Given the description of an element on the screen output the (x, y) to click on. 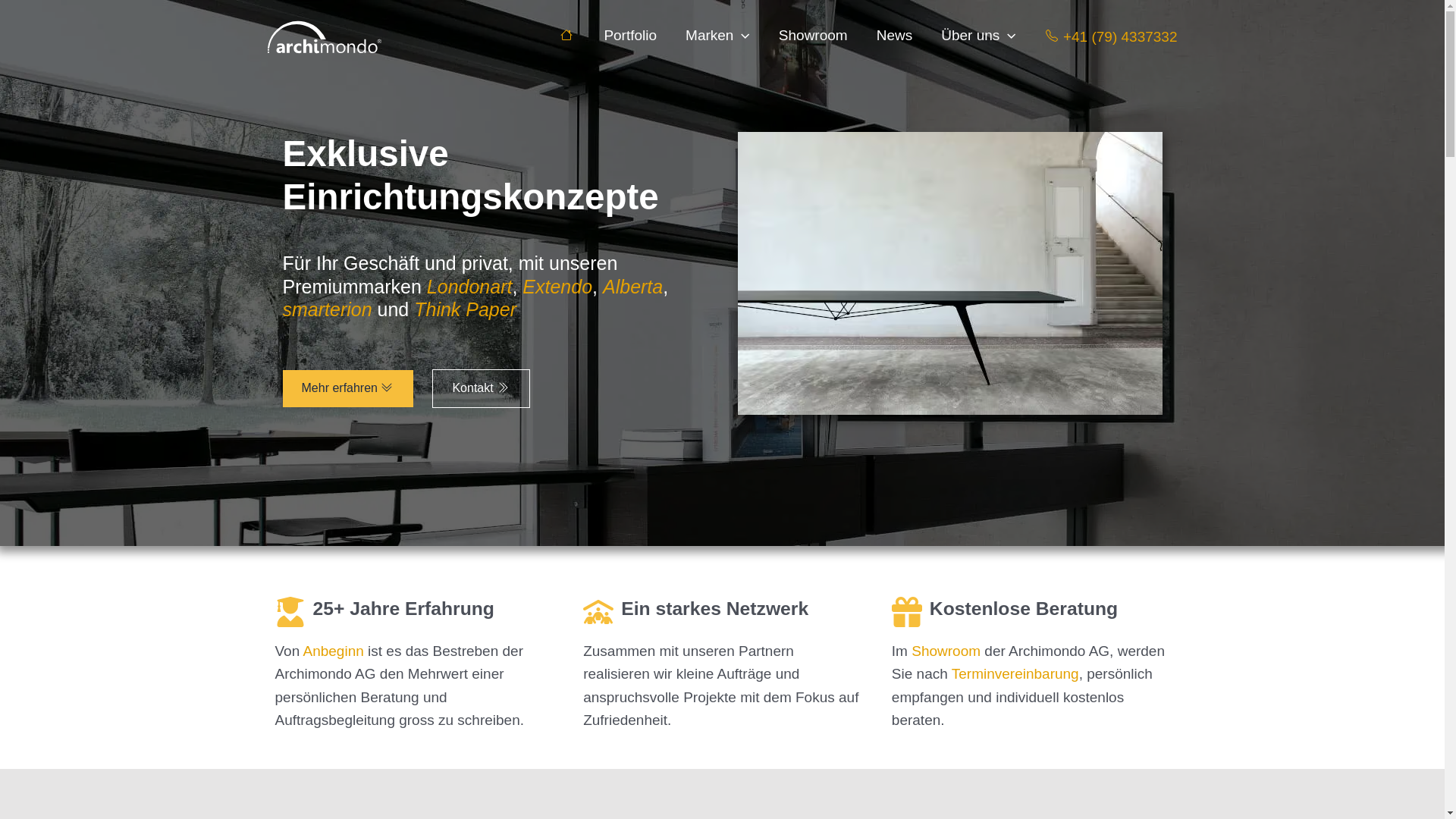
Terminvereinbarung Element type: text (1015, 673)
Kontakt Element type: text (481, 388)
Extendo Element type: text (557, 286)
Think Paper Element type: text (465, 309)
Portfolio Element type: text (630, 35)
Anbeginn Element type: text (333, 650)
Mehr erfahren Element type: text (347, 388)
Marken Element type: text (717, 35)
Londonart Element type: text (469, 286)
Startseite Element type: hover (567, 36)
Showroom Element type: text (945, 650)
News Element type: text (894, 35)
Showroom Element type: text (813, 35)
Alberta Element type: text (632, 286)
smarterion Element type: text (326, 309)
